Given the description of an element on the screen output the (x, y) to click on. 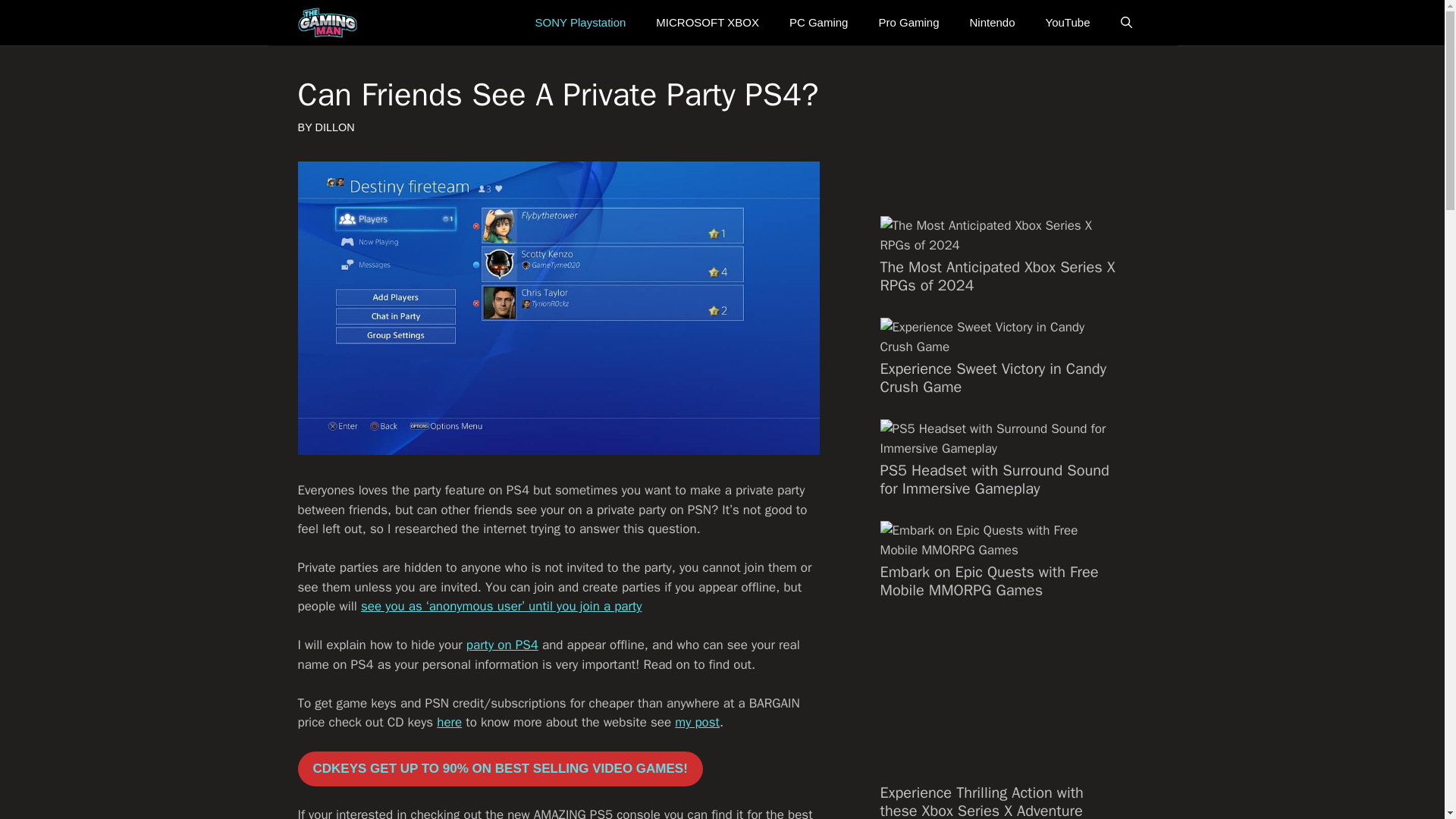
The Most Anticipated Xbox Series X RPGs of 2024 (997, 275)
PC Gaming (818, 22)
The Gaming Man (326, 22)
here (448, 722)
Experience Sweet Victory in Candy Crush Game (992, 377)
party on PS4 (501, 644)
Nintendo (991, 22)
my post (697, 722)
SONY Playstation (580, 22)
View all posts by Dillon (335, 127)
